Given the description of an element on the screen output the (x, y) to click on. 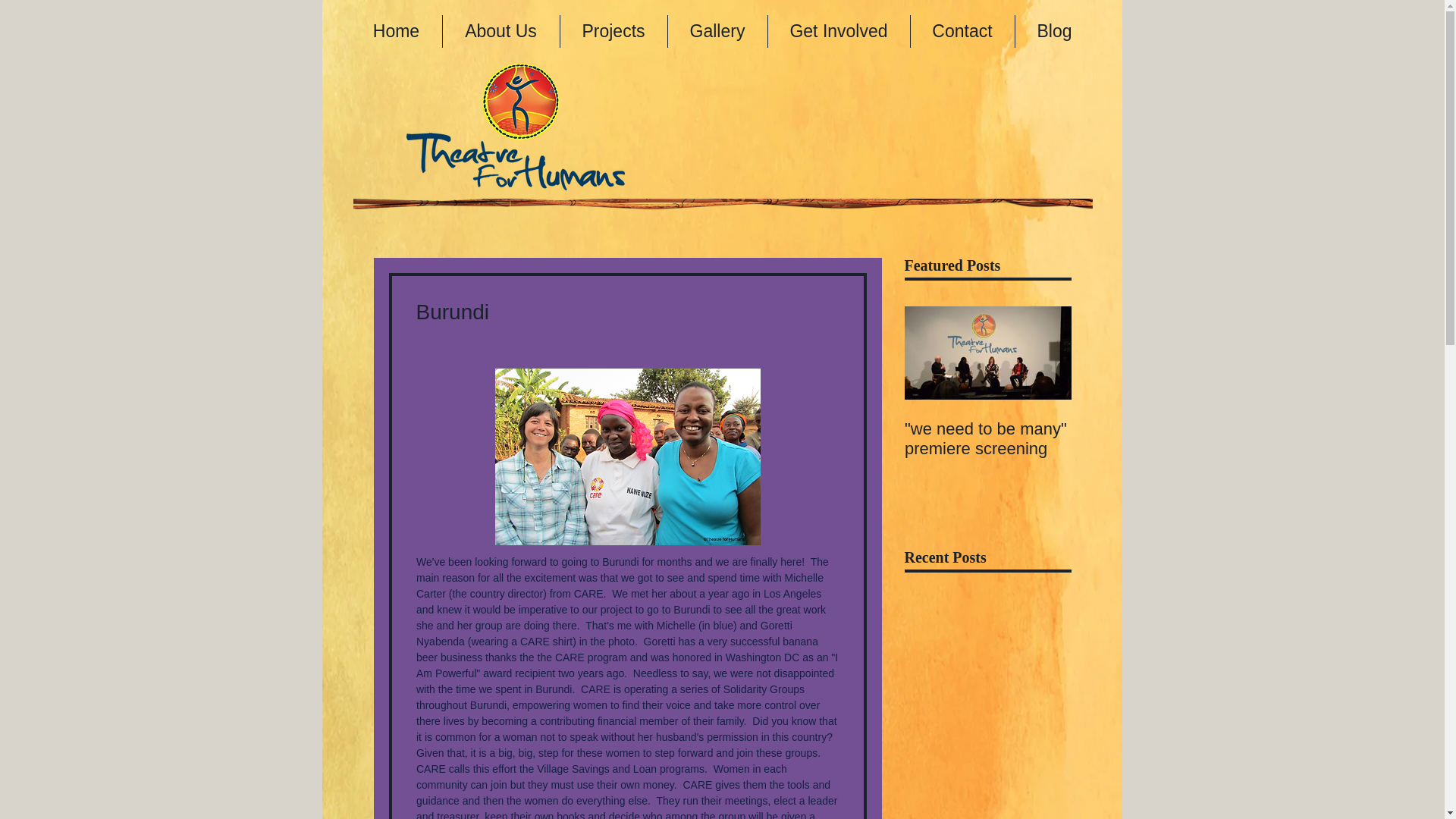
Get Involved (837, 31)
About Us (500, 31)
Blog (1053, 31)
"we need to be many" premiere screening (987, 438)
Contact (961, 31)
Home (395, 31)
Projects (612, 31)
Gallery (716, 31)
